Given the description of an element on the screen output the (x, y) to click on. 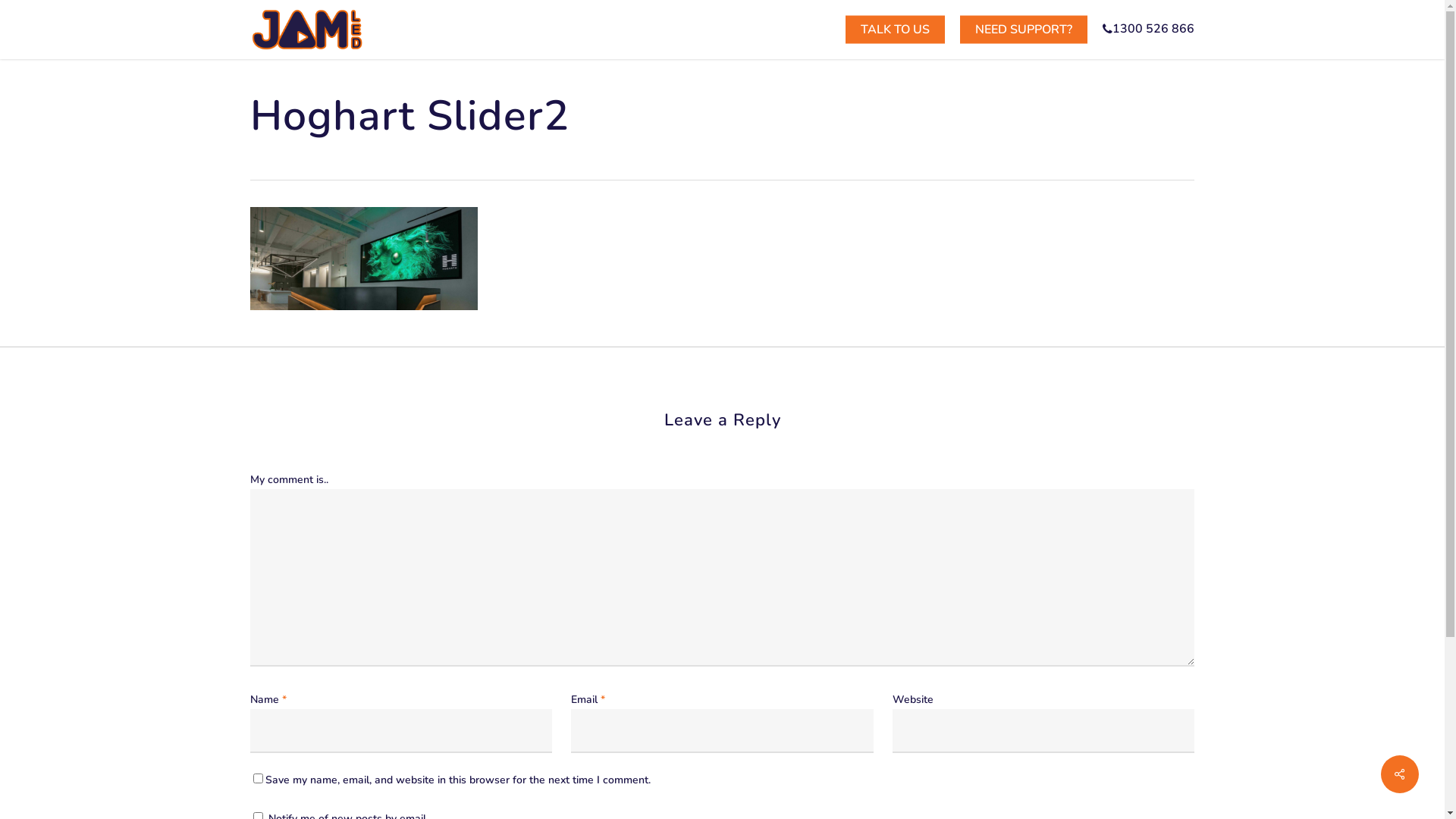
TALK TO US Element type: text (894, 29)
1300 526 866 Element type: text (1148, 28)
NEED SUPPORT? Element type: text (1023, 29)
